Given the description of an element on the screen output the (x, y) to click on. 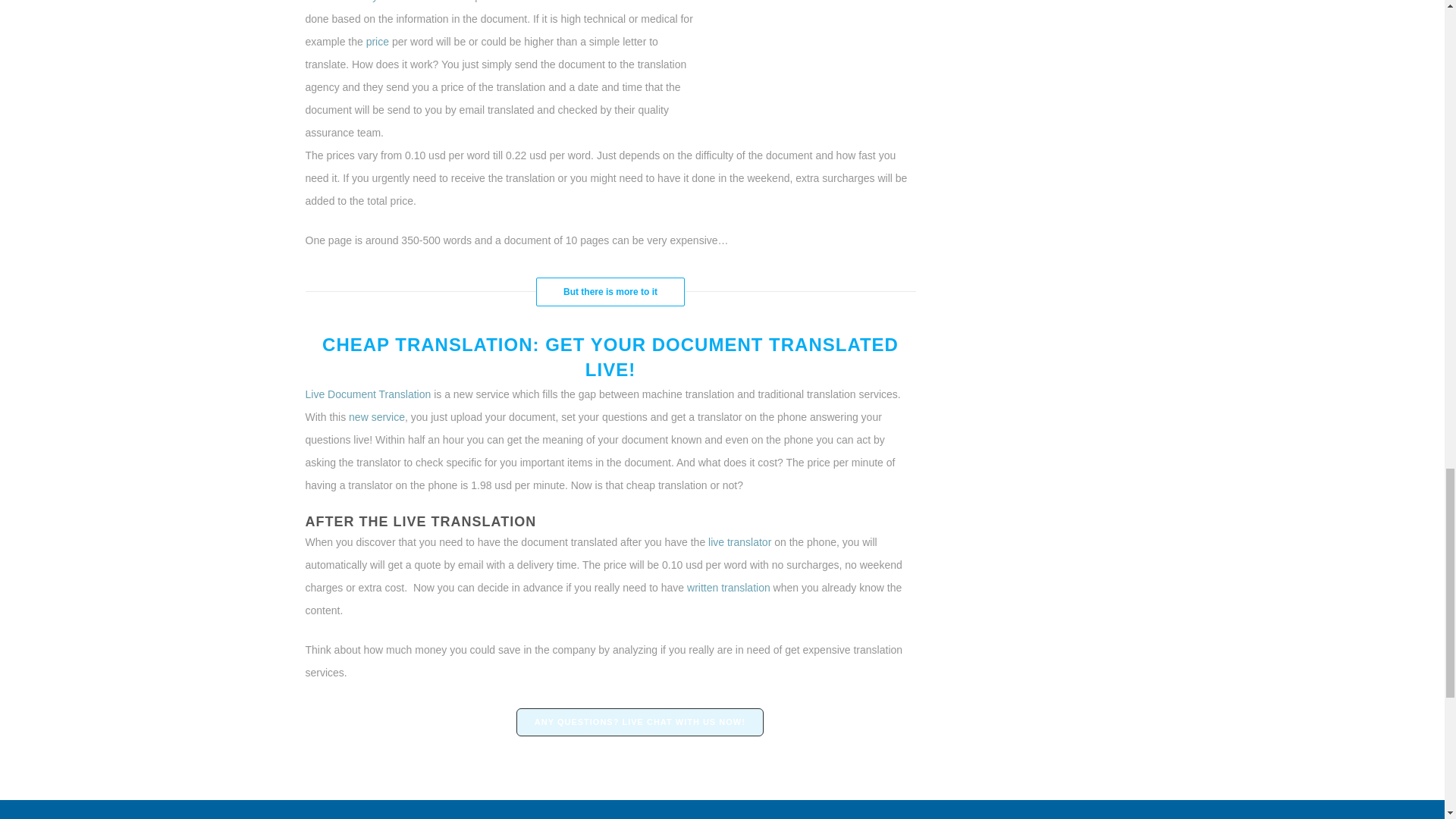
ANY QUESTIONS? LIVE CHAT WITH US NOW! (639, 722)
written translation (727, 587)
live translator (739, 541)
new service (376, 417)
translation for your documents. (376, 1)
LIVE TRANSLATION (464, 521)
price (375, 41)
Live Document Translation (367, 394)
